Given the description of an element on the screen output the (x, y) to click on. 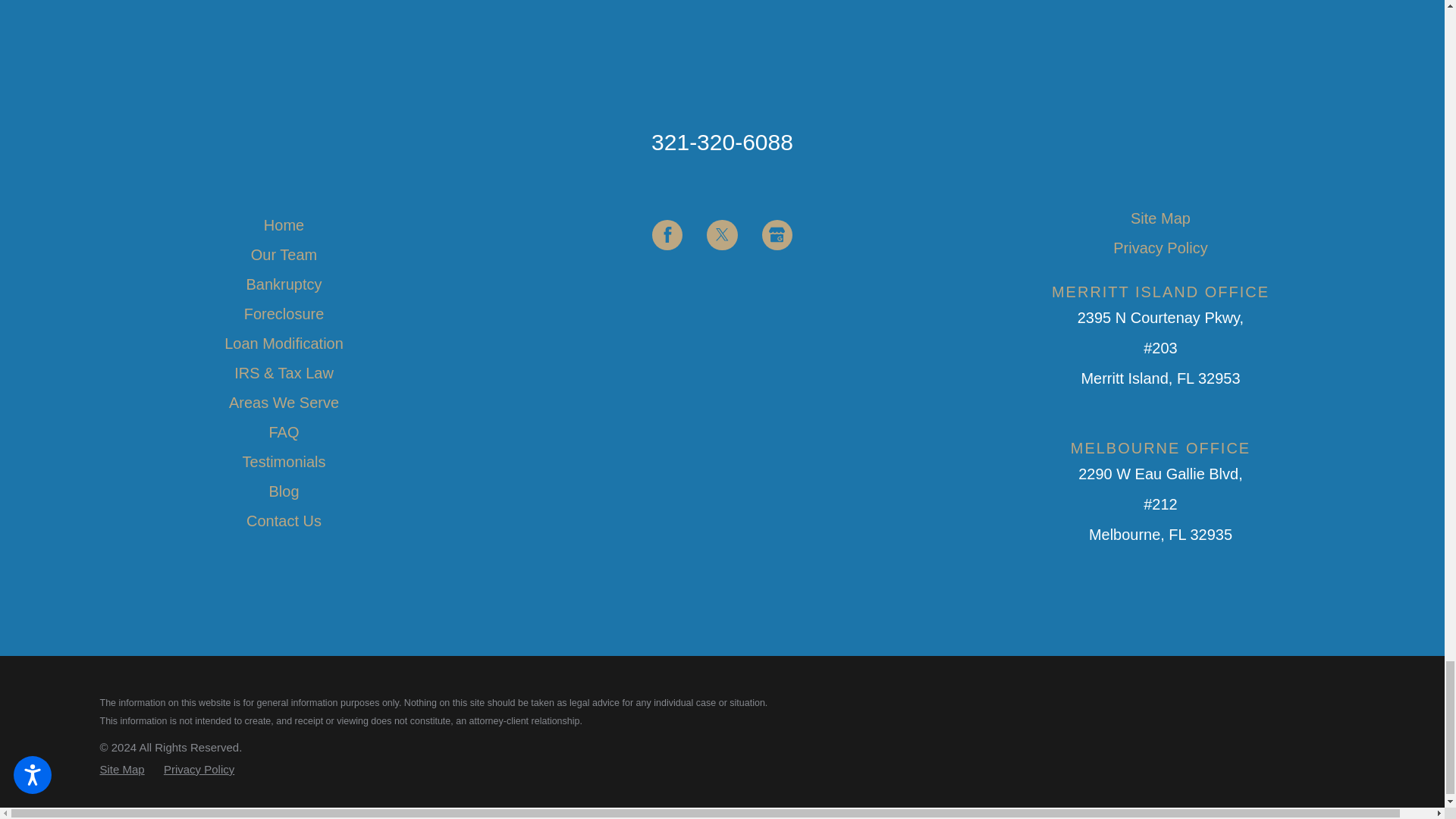
Facebook (667, 235)
